Given the description of an element on the screen output the (x, y) to click on. 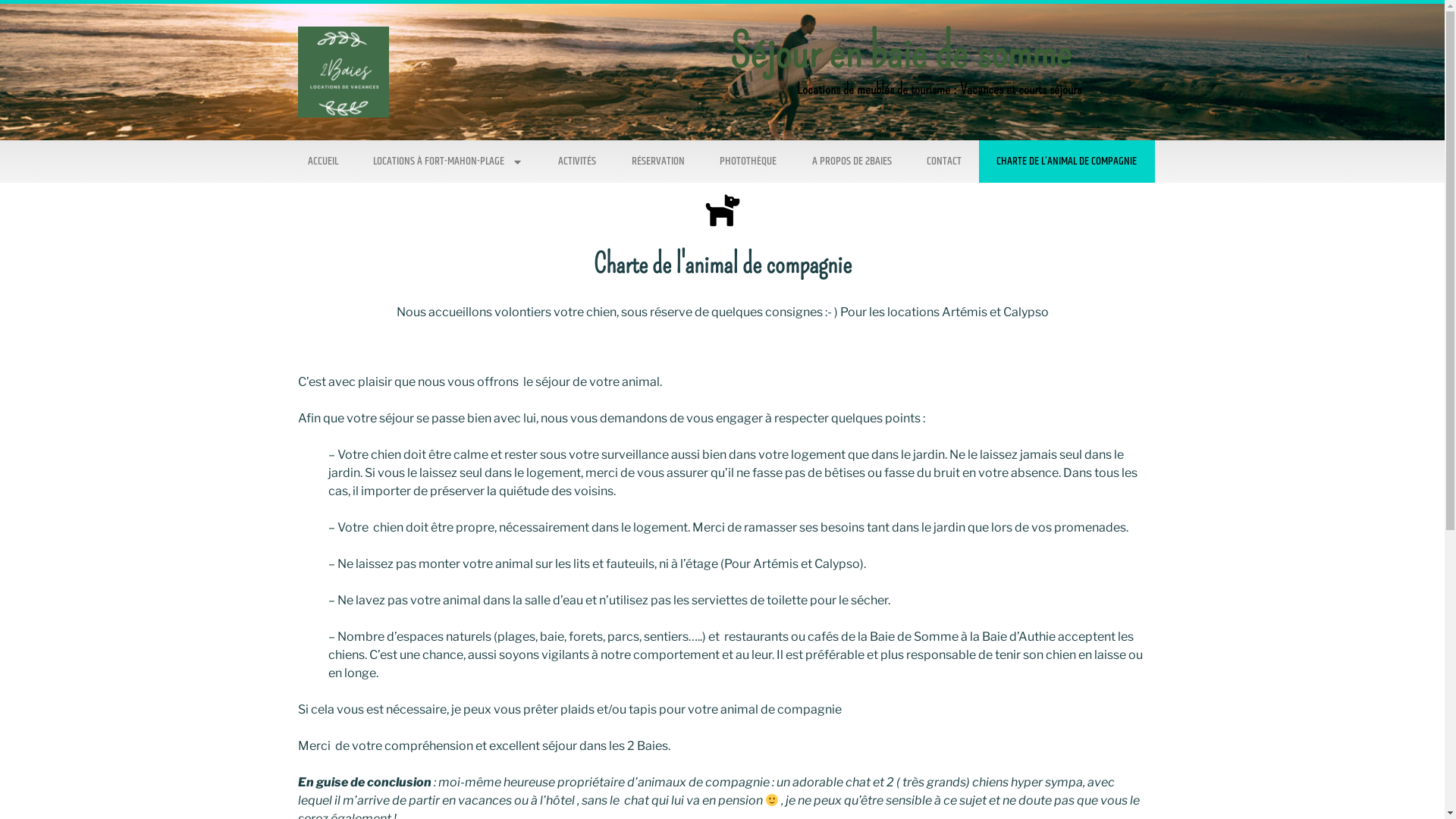
CONTACT Element type: text (944, 161)
A PROPOS DE 2BAIES Element type: text (850, 161)
ACCUEIL Element type: text (321, 161)
